Given the description of an element on the screen output the (x, y) to click on. 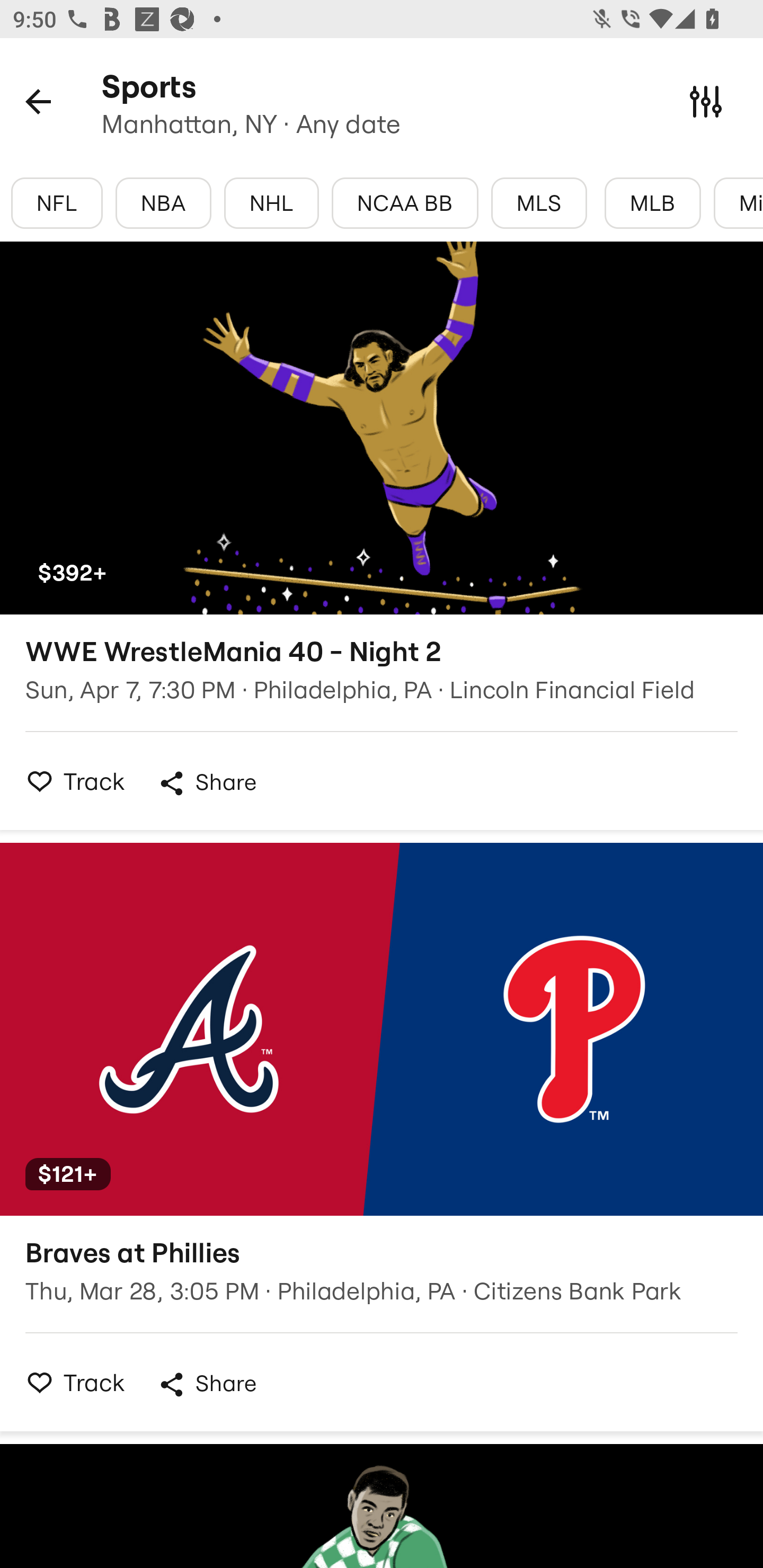
Back (38, 100)
Filters (705, 100)
NFL (57, 202)
NBA (163, 202)
NHL (271, 202)
NCAA BB (404, 202)
MLS (538, 202)
MLB (652, 202)
Track (70, 780)
Share (207, 783)
Track (70, 1381)
Share (207, 1384)
